Given the description of an element on the screen output the (x, y) to click on. 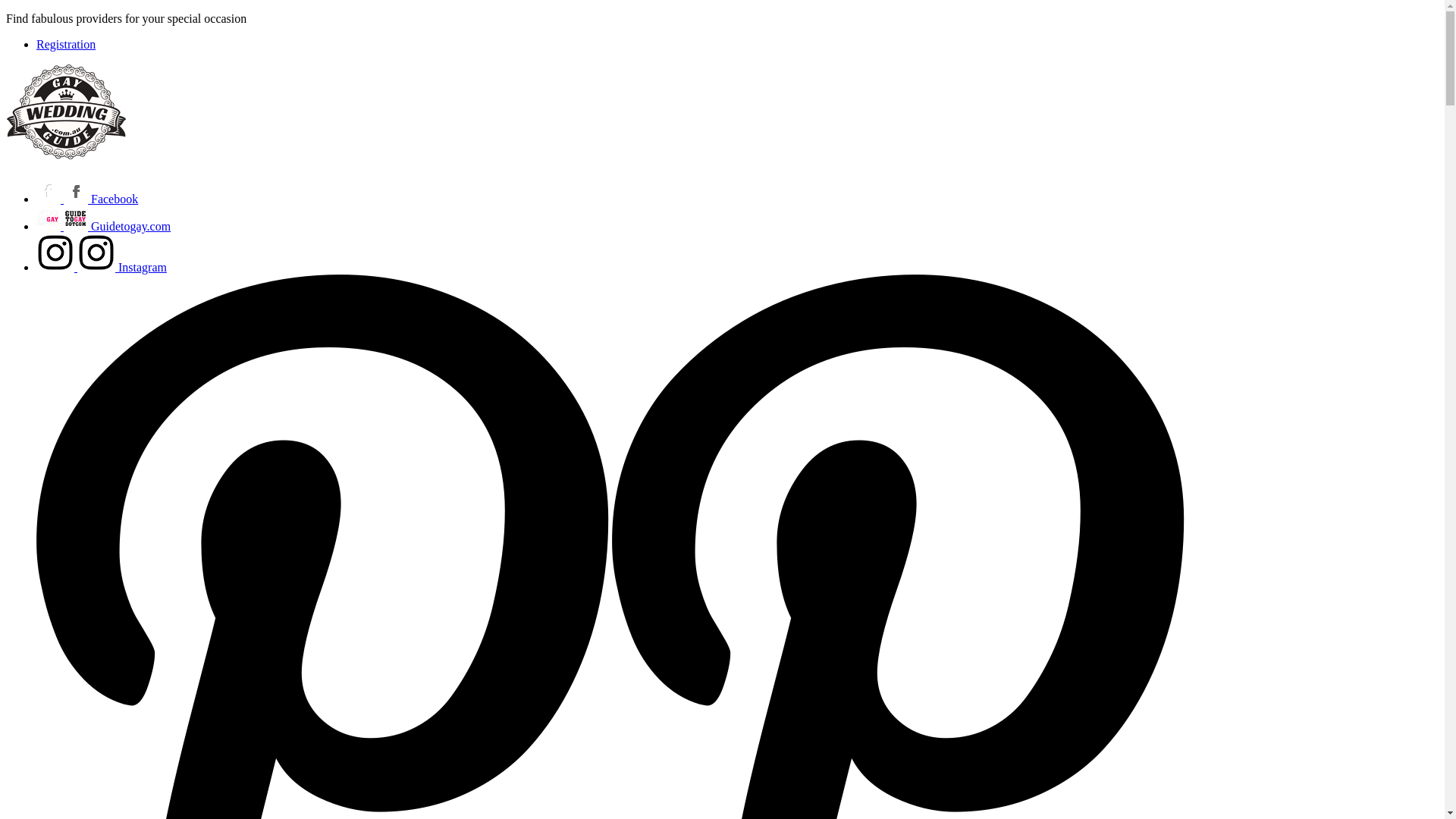
Facebook Element type: text (87, 198)
Guidetogay.com Element type: text (103, 225)
Instagram Element type: text (101, 266)
Registration Element type: text (65, 43)
GayWeddingGuide.com.au Element type: hover (67, 159)
